Given the description of an element on the screen output the (x, y) to click on. 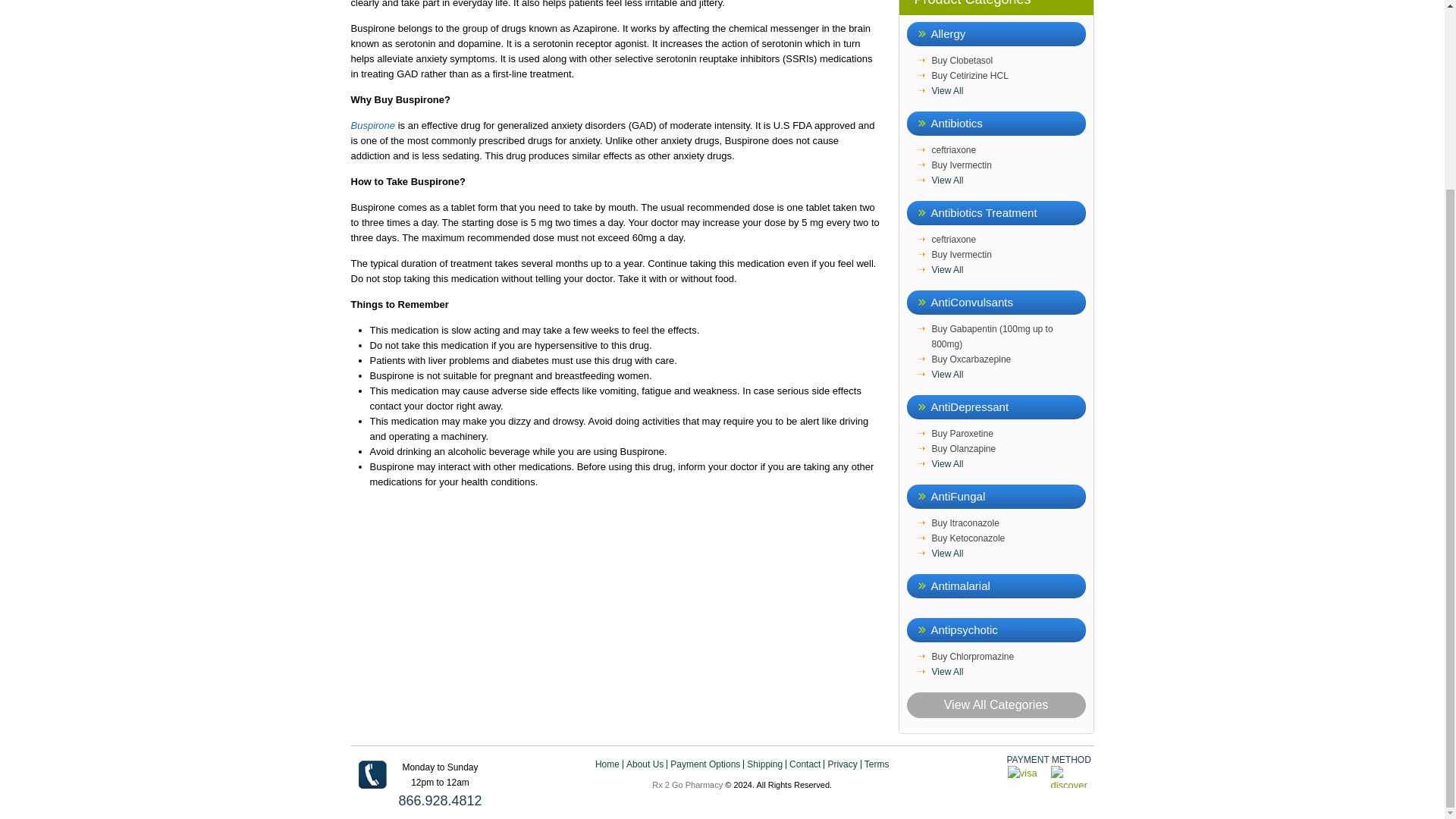
Buy Ivermectin (1007, 254)
Buy Ivermectin (1007, 165)
View All (1007, 180)
Buy Oxcarbazepine (1007, 359)
ceftriaxone (1007, 150)
Buy Clobetasol (1007, 60)
View All (1007, 90)
ceftriaxone (1007, 239)
Buy Cetirizine HCL (1007, 75)
Buspirone (372, 125)
View All (1007, 269)
